Given the description of an element on the screen output the (x, y) to click on. 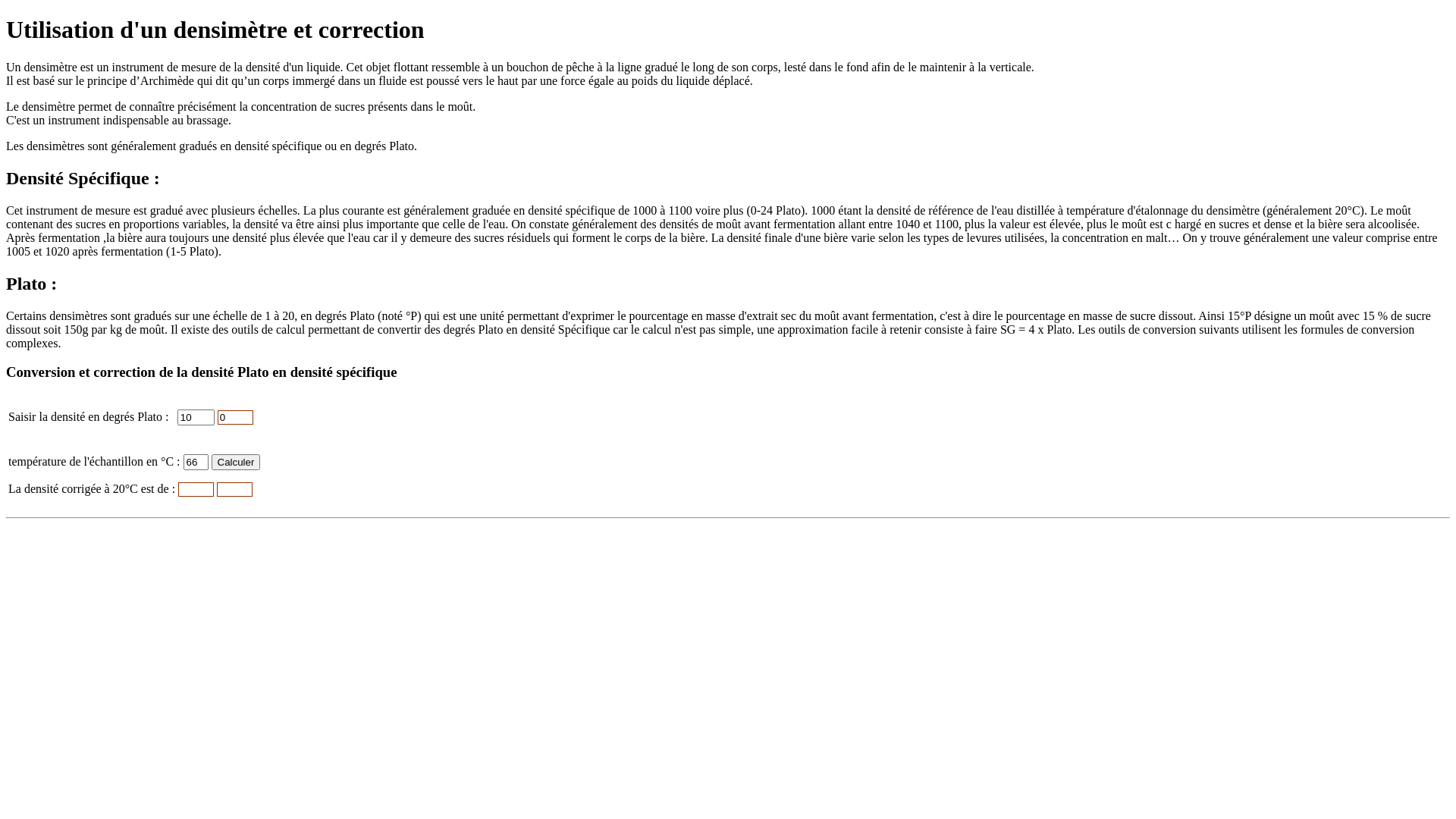
Calculer Element type: text (235, 462)
